Given the description of an element on the screen output the (x, y) to click on. 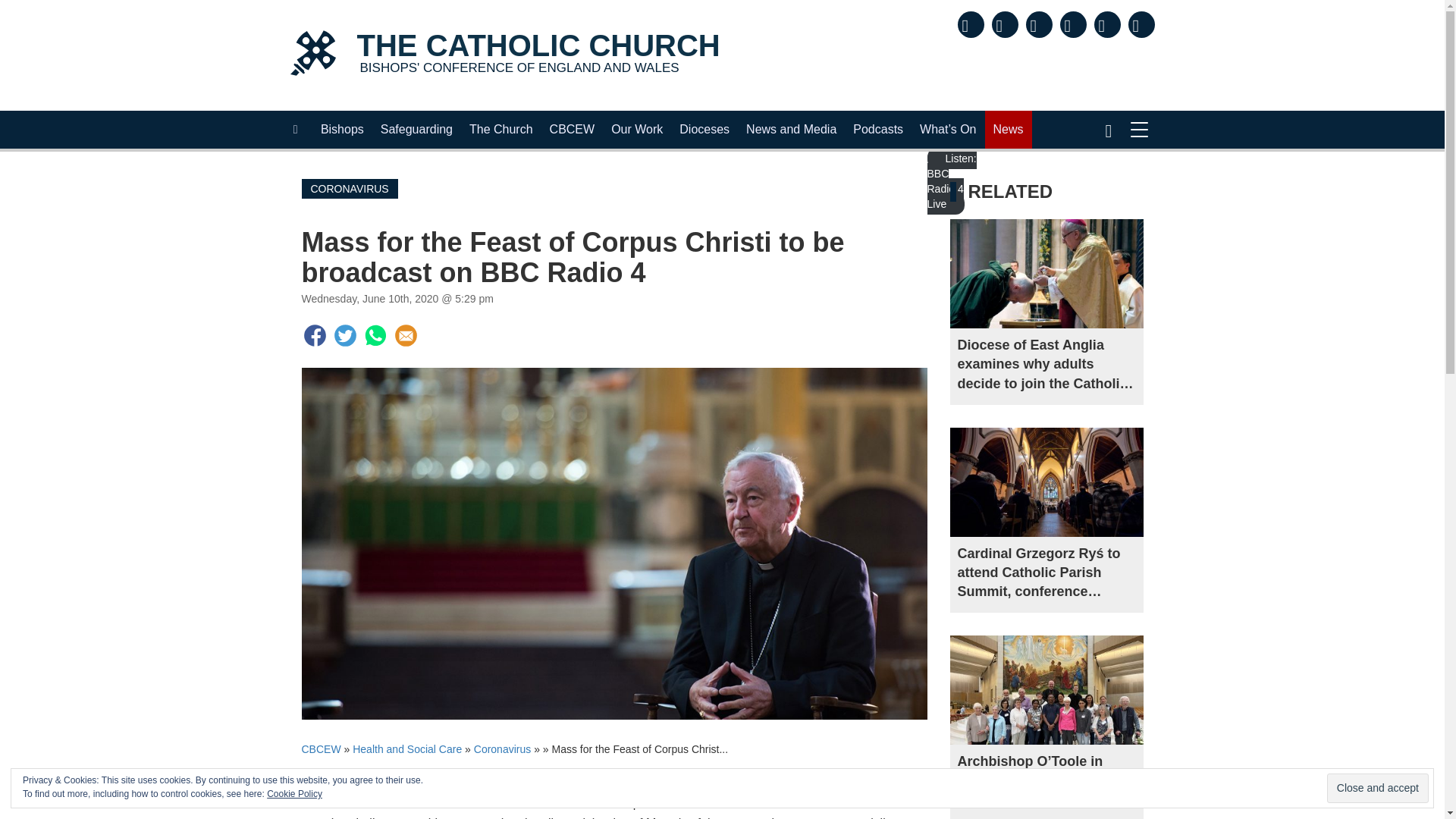
Close and accept (1377, 788)
Bishops (342, 129)
CBCEW (572, 129)
Safeguarding (416, 129)
The Church (504, 55)
